Given the description of an element on the screen output the (x, y) to click on. 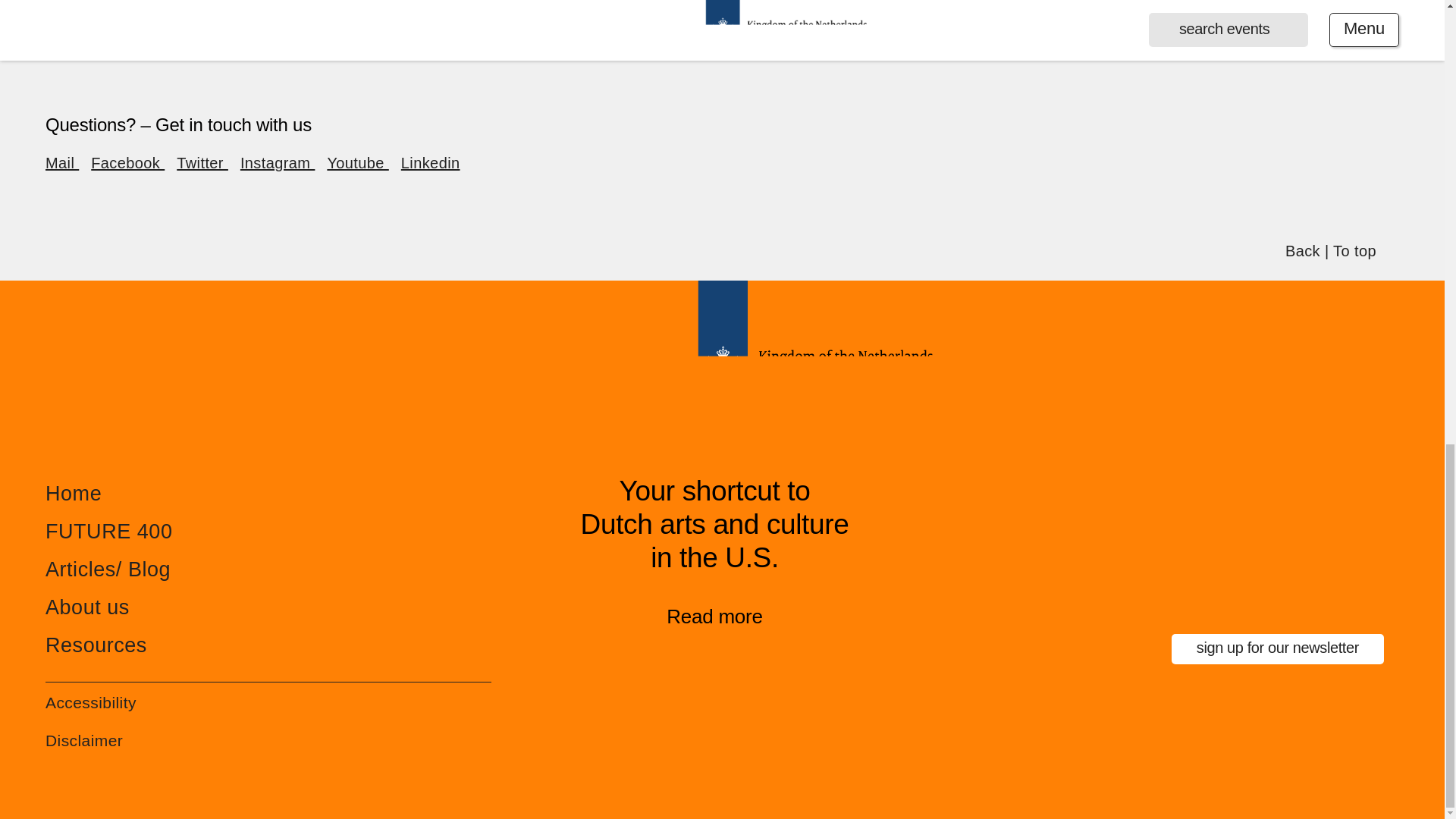
Twitter (202, 162)
Facebook (127, 162)
Youtube (357, 162)
Linkedin (430, 162)
Instagram (277, 162)
Home (73, 493)
Mail (61, 162)
